Given the description of an element on the screen output the (x, y) to click on. 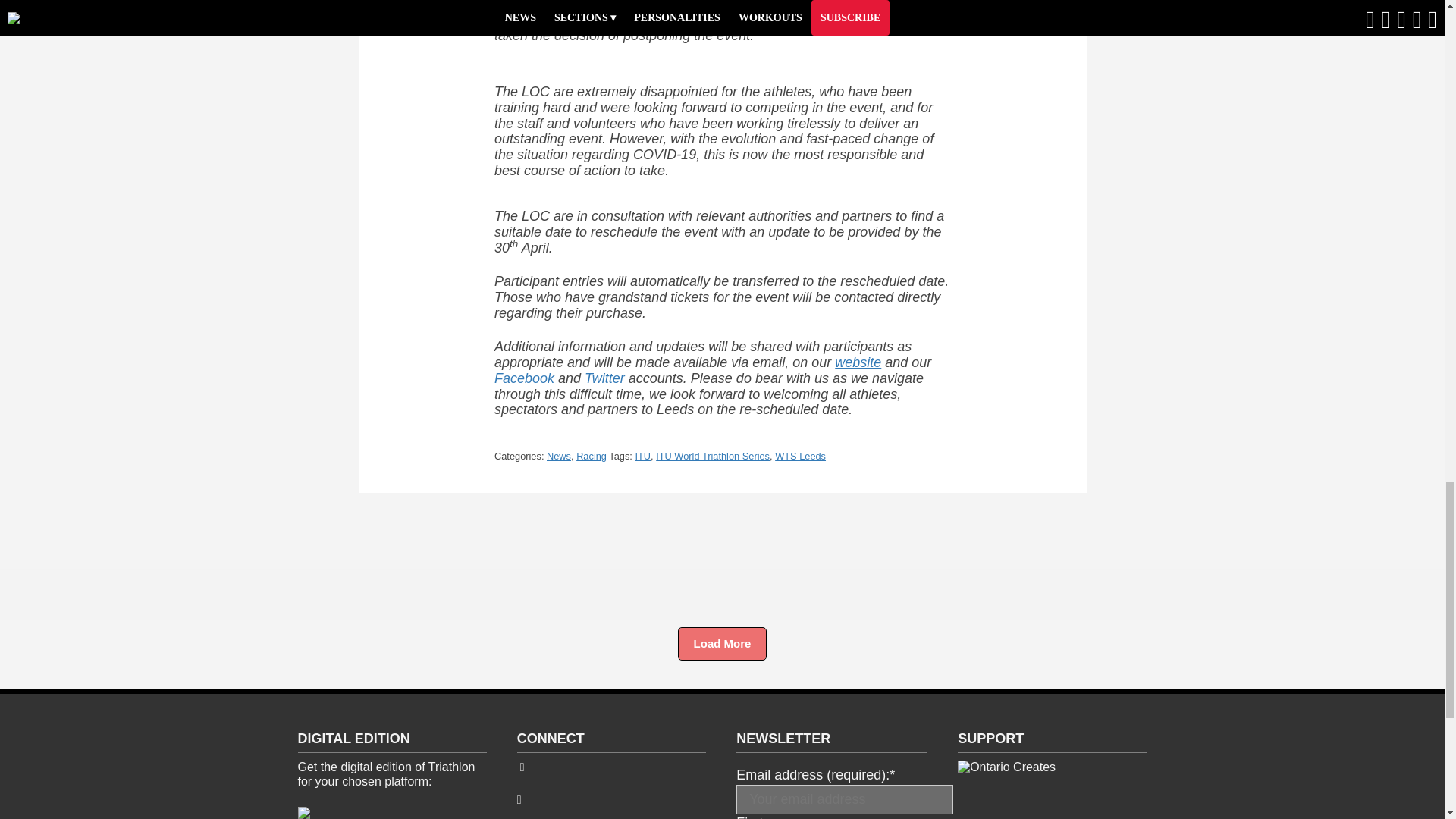
Load More (722, 644)
Facebook (524, 378)
Twitter (604, 378)
Racing (591, 455)
Ontario Creates (1006, 766)
News (558, 455)
ITU World Triathlon Series (713, 455)
WTS Leeds (799, 455)
website (857, 362)
ITU (642, 455)
